Given the description of an element on the screen output the (x, y) to click on. 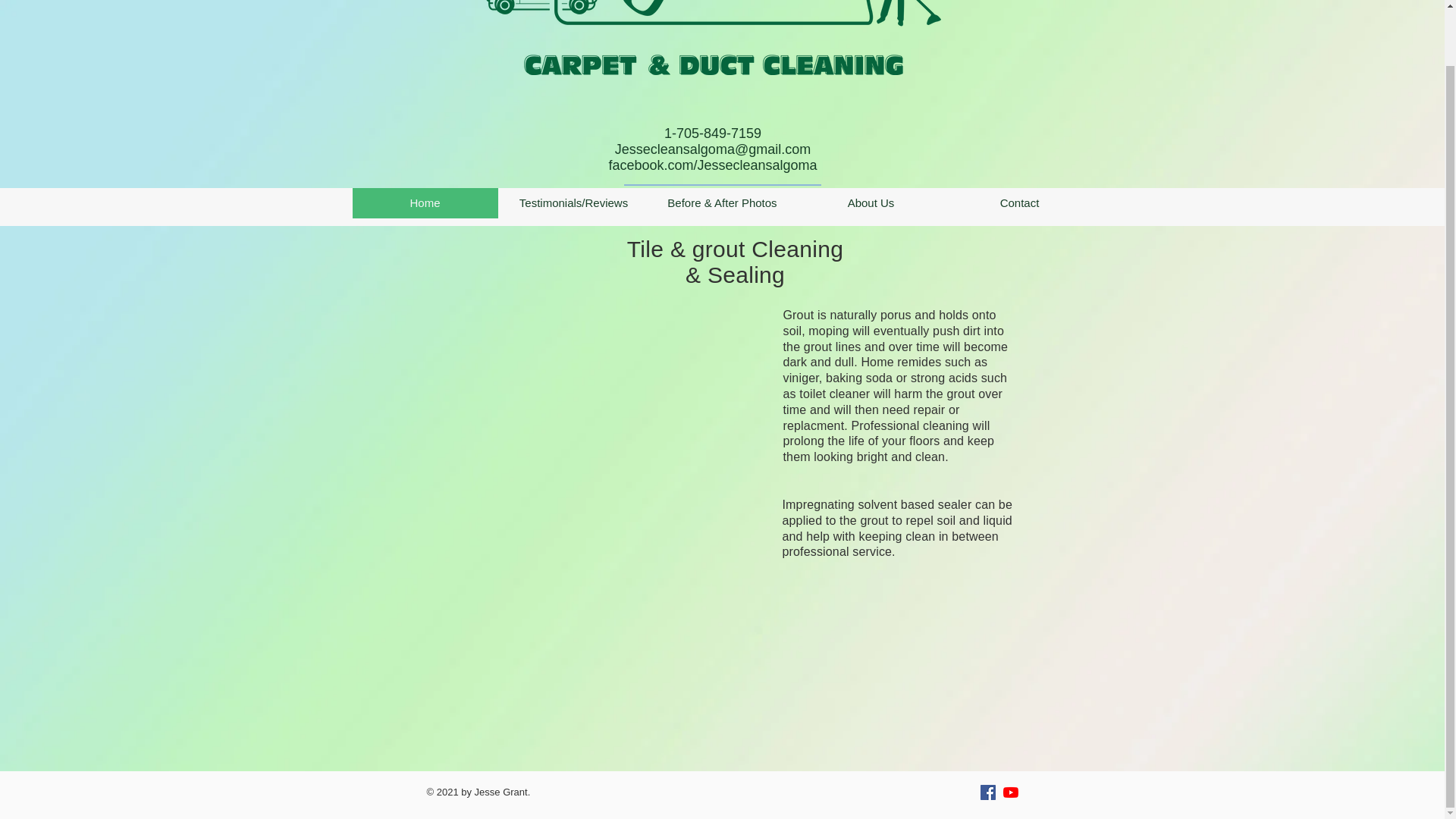
About Us (870, 203)
Home (424, 203)
Contact (1019, 203)
